Given the description of an element on the screen output the (x, y) to click on. 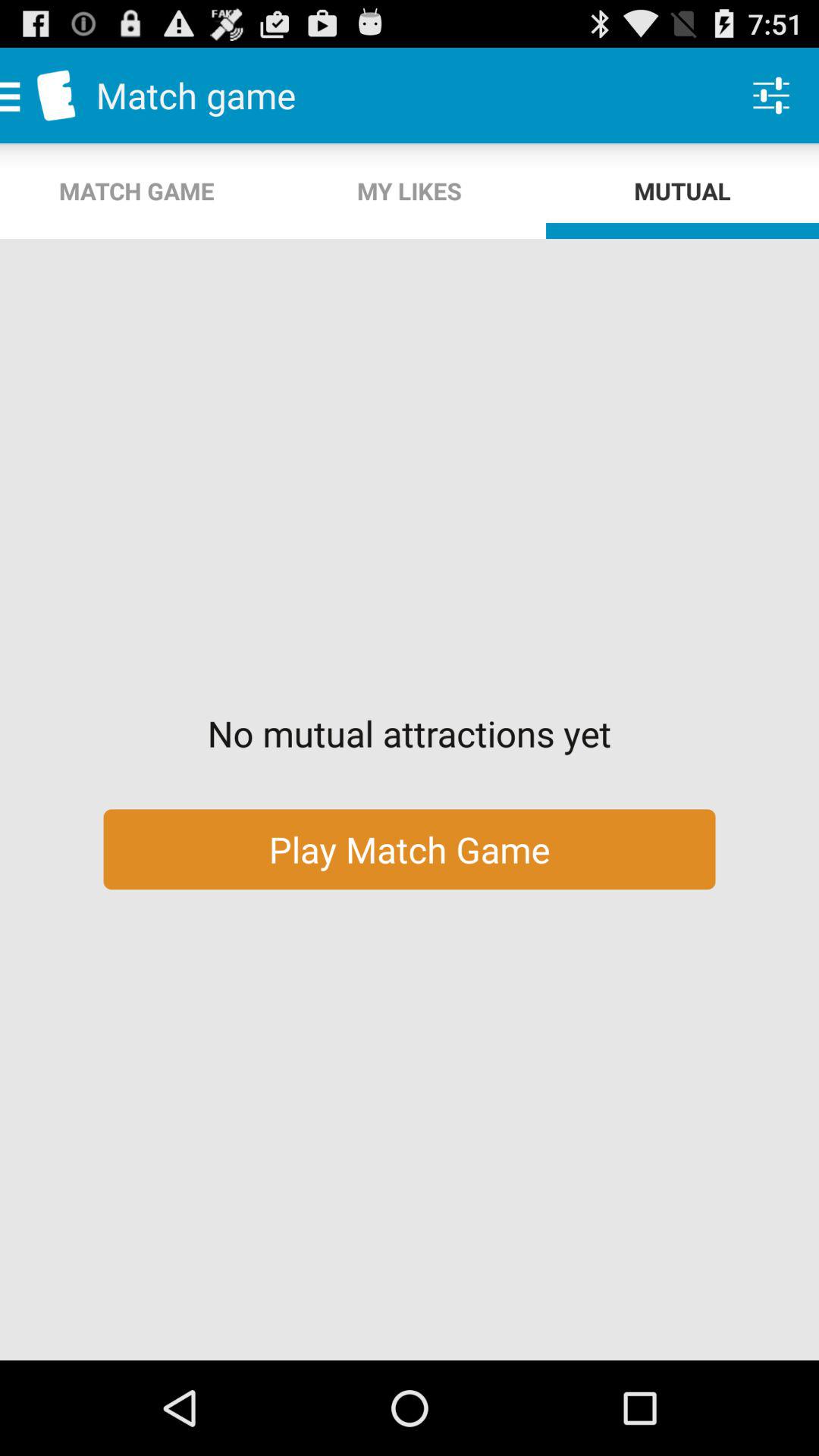
launch app next to my likes (771, 95)
